Given the description of an element on the screen output the (x, y) to click on. 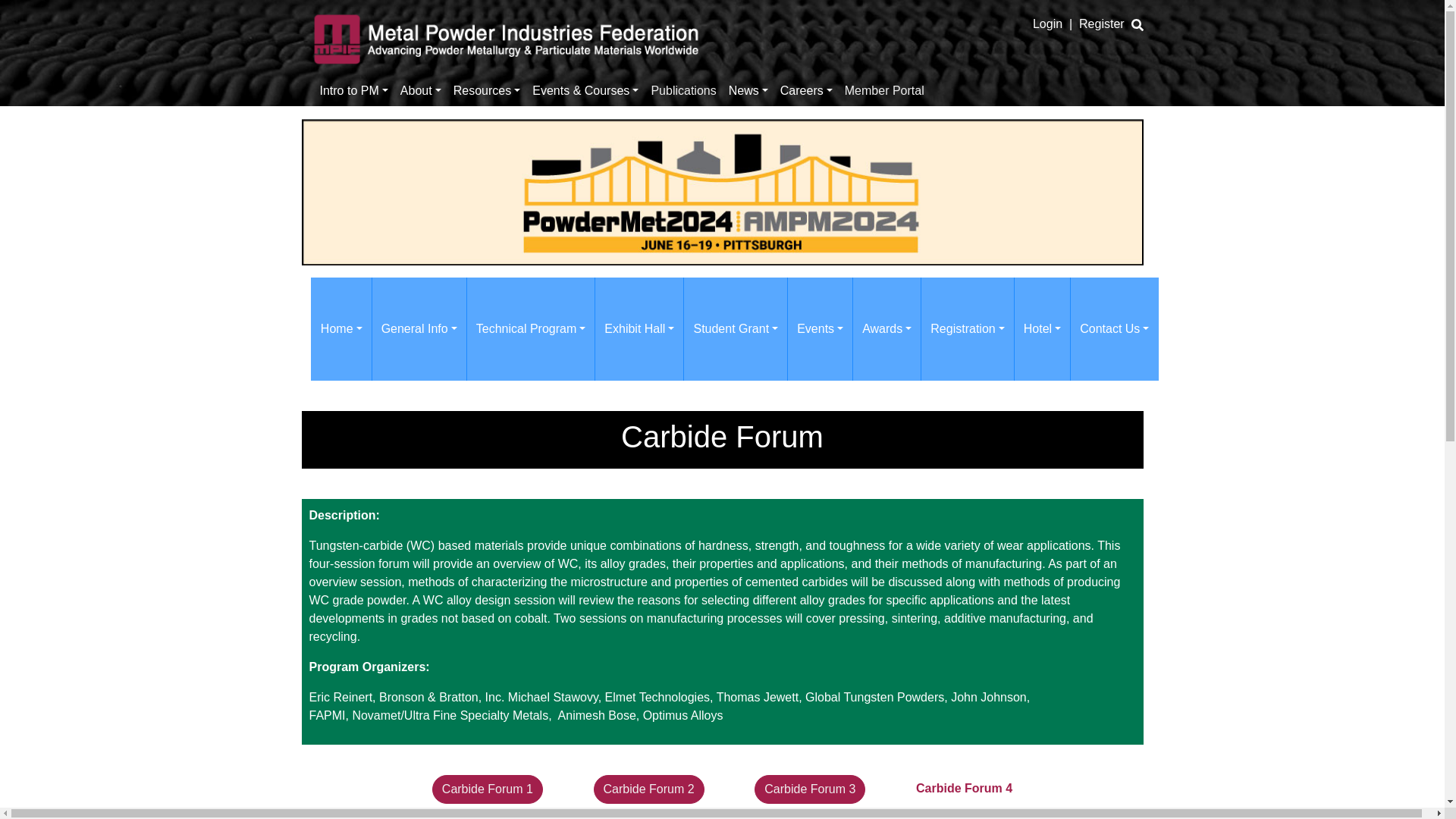
Login (1047, 24)
Login (1047, 24)
Intro to PM (354, 90)
Register (1101, 24)
About (420, 90)
Register (1101, 24)
Metal Powder Industries Federation (506, 36)
